Given the description of an element on the screen output the (x, y) to click on. 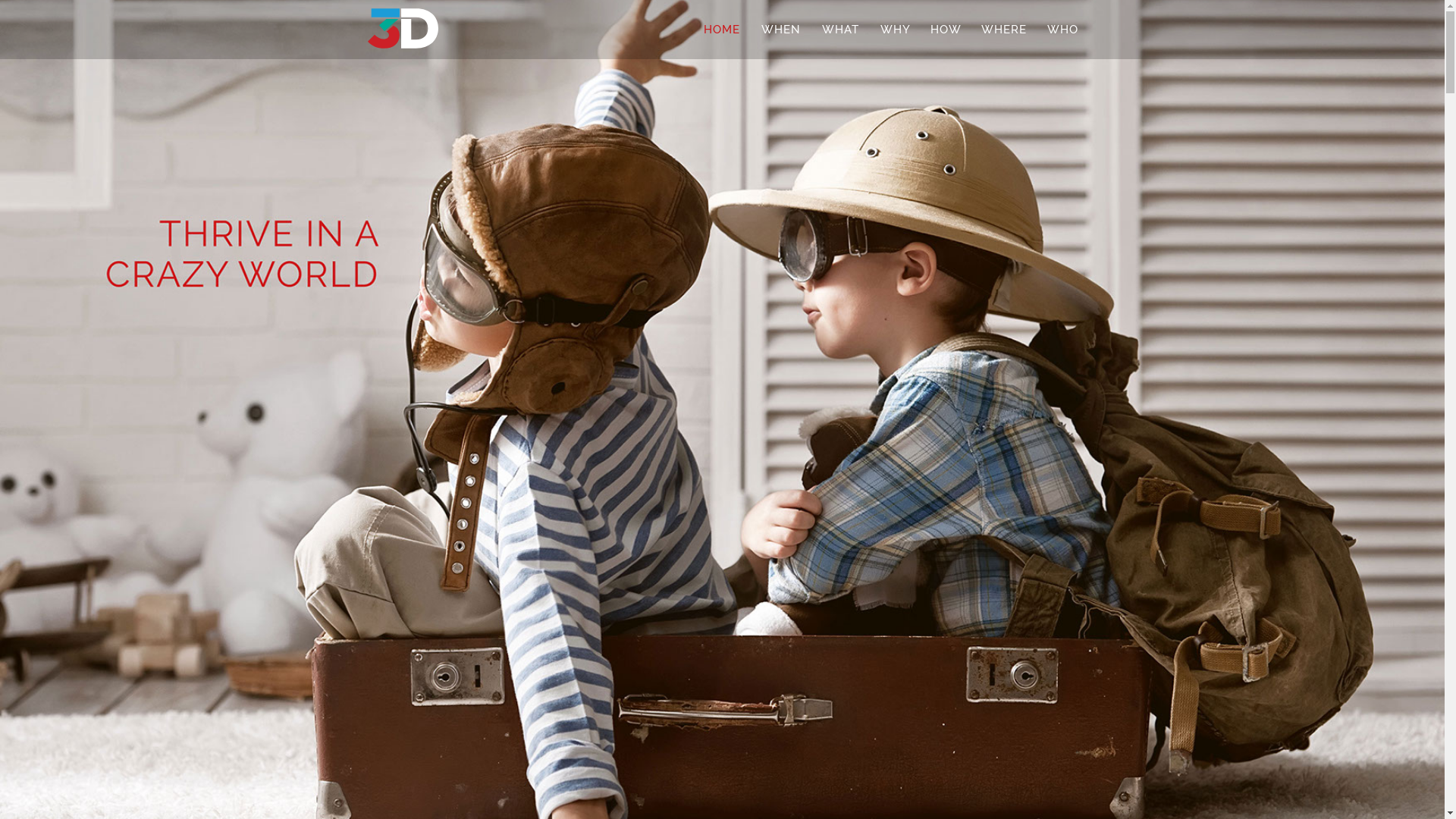
HOME Element type: text (722, 29)
HOW Element type: text (945, 29)
WHO Element type: text (1062, 29)
WHY Element type: text (895, 29)
WHEN Element type: text (780, 29)
WHAT Element type: text (840, 29)
WHERE Element type: text (1003, 29)
